Given the description of an element on the screen output the (x, y) to click on. 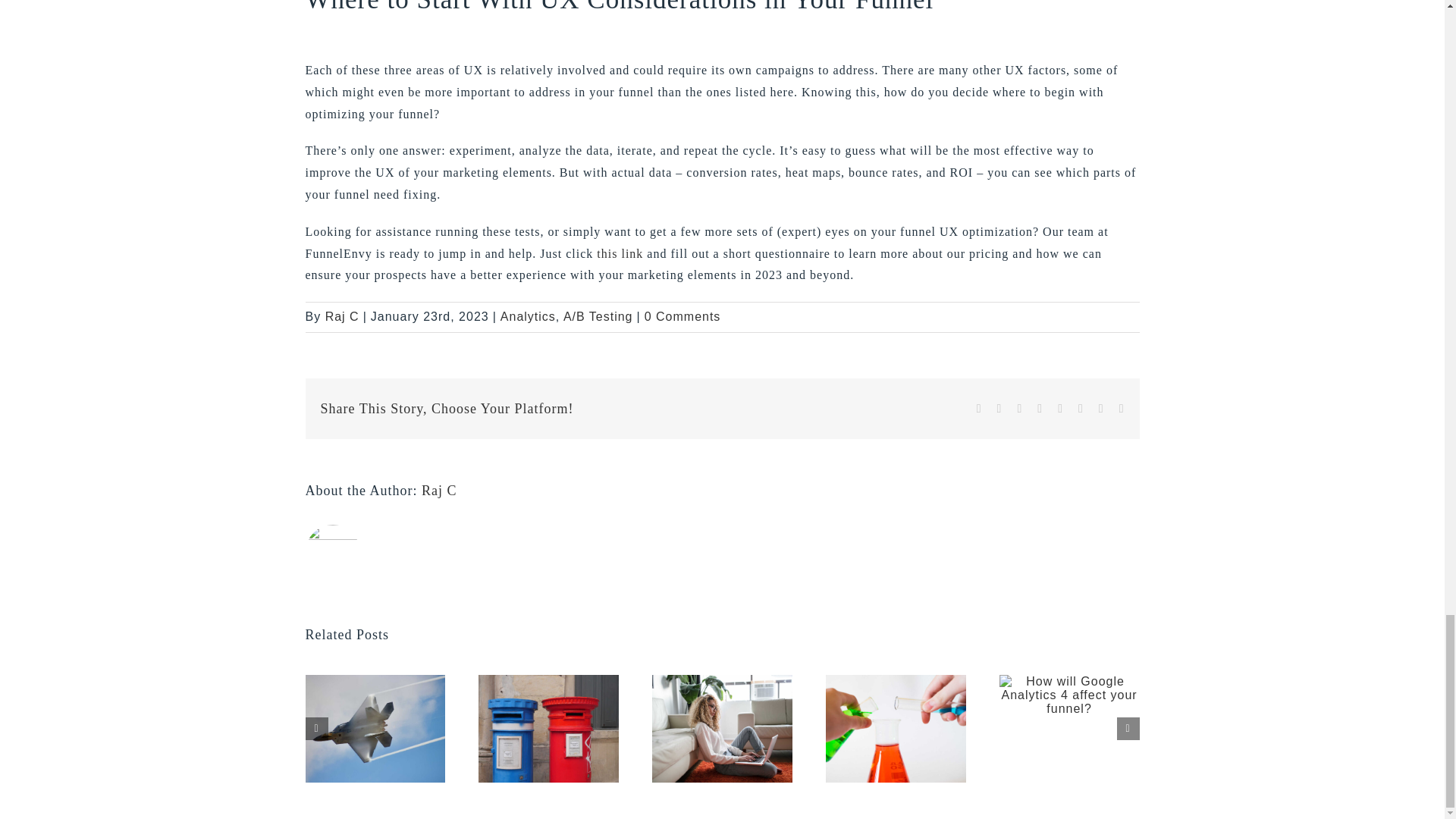
Email (1121, 408)
Pinterest (1080, 408)
Tumblr (1060, 408)
Posts by Raj C (341, 316)
LinkedIn (1039, 408)
X (1000, 408)
Posts by Raj C (439, 490)
Reddit (1019, 408)
Facebook (978, 408)
Vk (1101, 408)
